Given the description of an element on the screen output the (x, y) to click on. 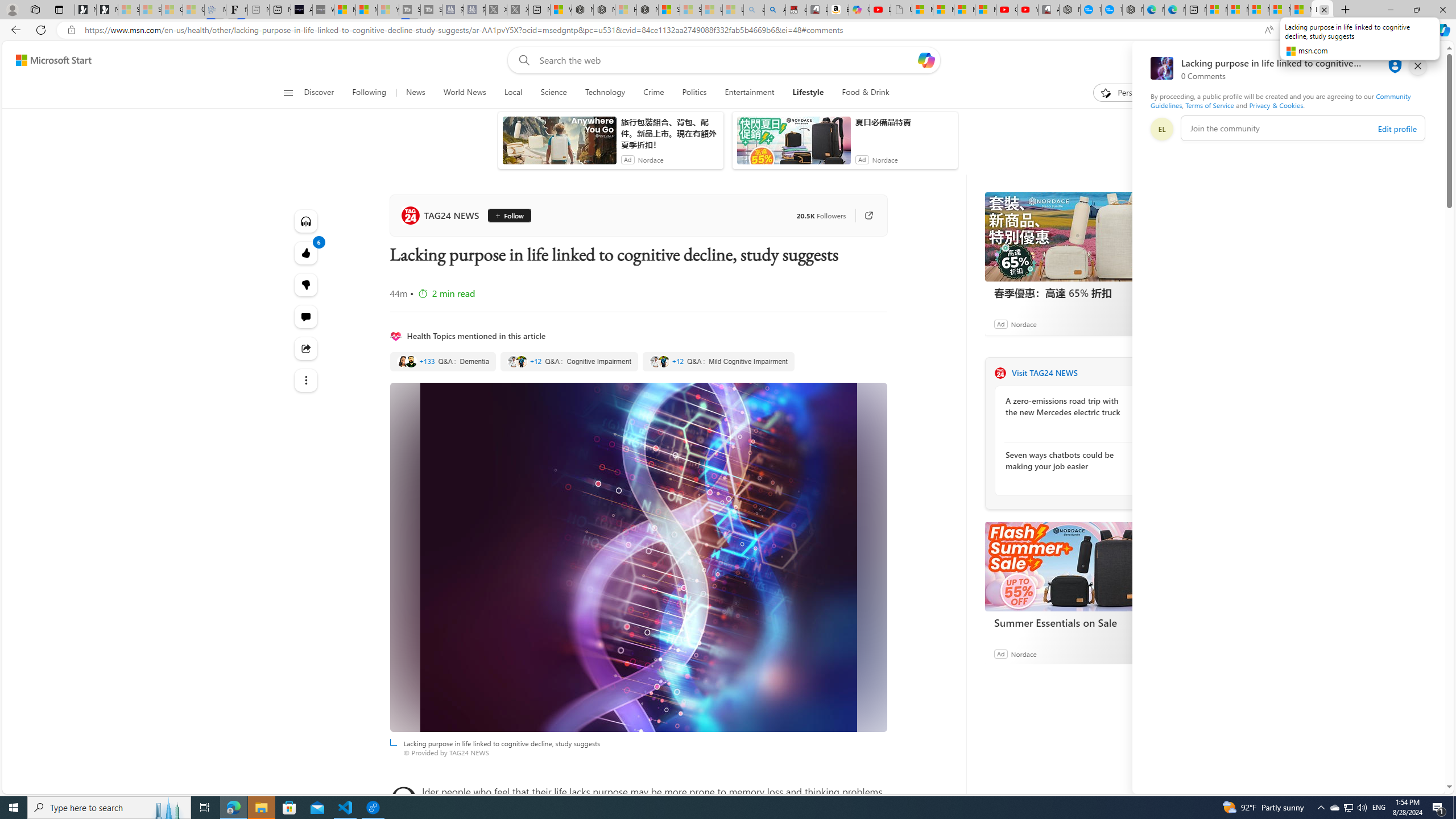
AI Voice Changer for PC and Mac - Voice.ai (301, 9)
comment-box (1302, 127)
Local (513, 92)
Privacy & Cookies (1276, 104)
Listen to this article (305, 220)
